Given the description of an element on the screen output the (x, y) to click on. 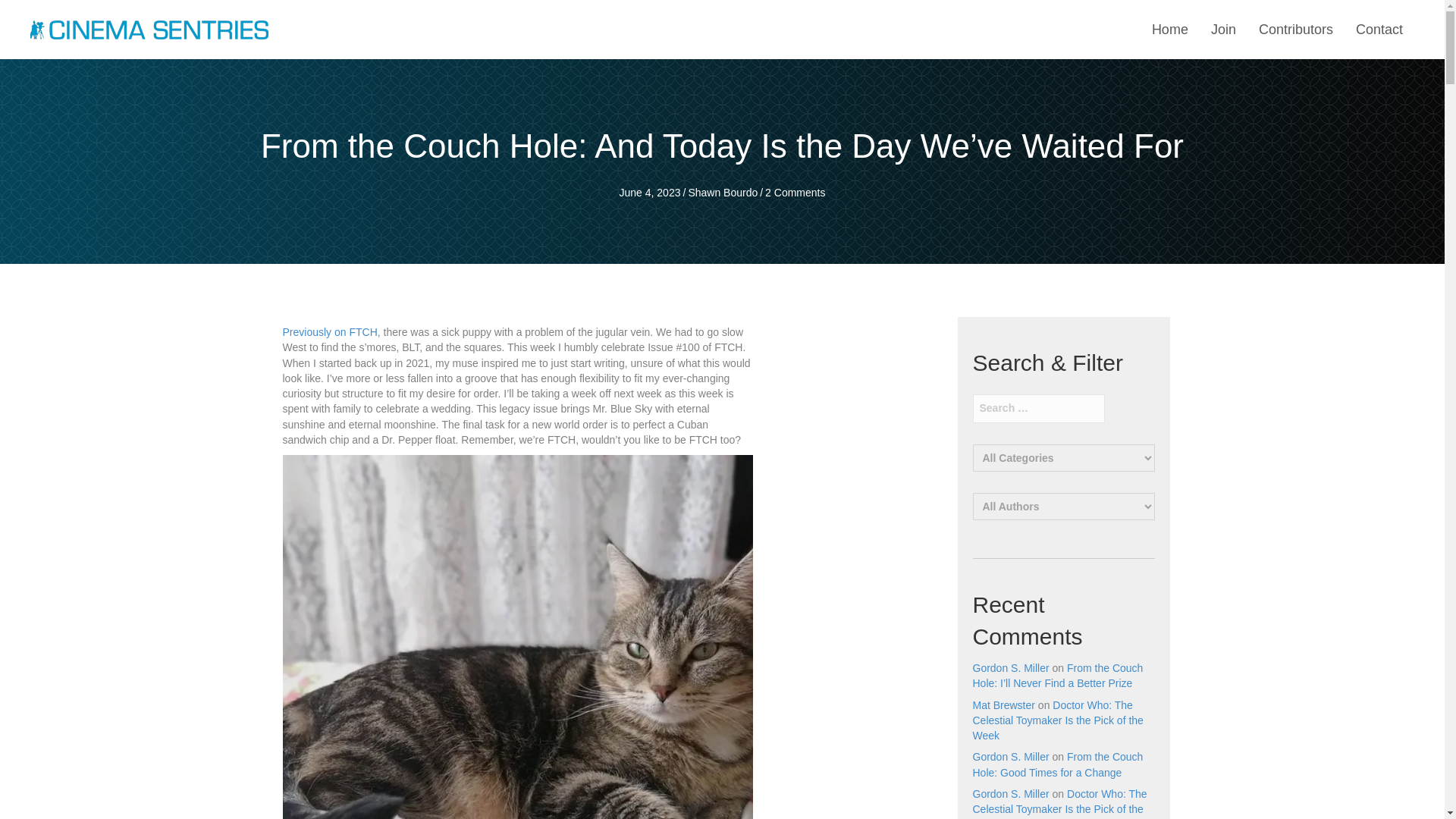
Gordon S. Miller (1010, 756)
Gordon S. Miller (1010, 667)
Mat Brewster (1002, 705)
Contributors (1295, 29)
Doctor Who: The Celestial Toymaker Is the Pick of the Week (1057, 720)
Contact (1379, 29)
2 Comments (795, 192)
Previously on FTCH (329, 331)
Join (1223, 29)
Shawn Bourdo (722, 192)
Cinema Sentries (148, 28)
Doctor Who: The Celestial Toymaker Is the Pick of the Week (1059, 803)
Home (1169, 29)
Gordon S. Miller (1010, 793)
From the Couch Hole: Good Times for a Change (1057, 764)
